Given the description of an element on the screen output the (x, y) to click on. 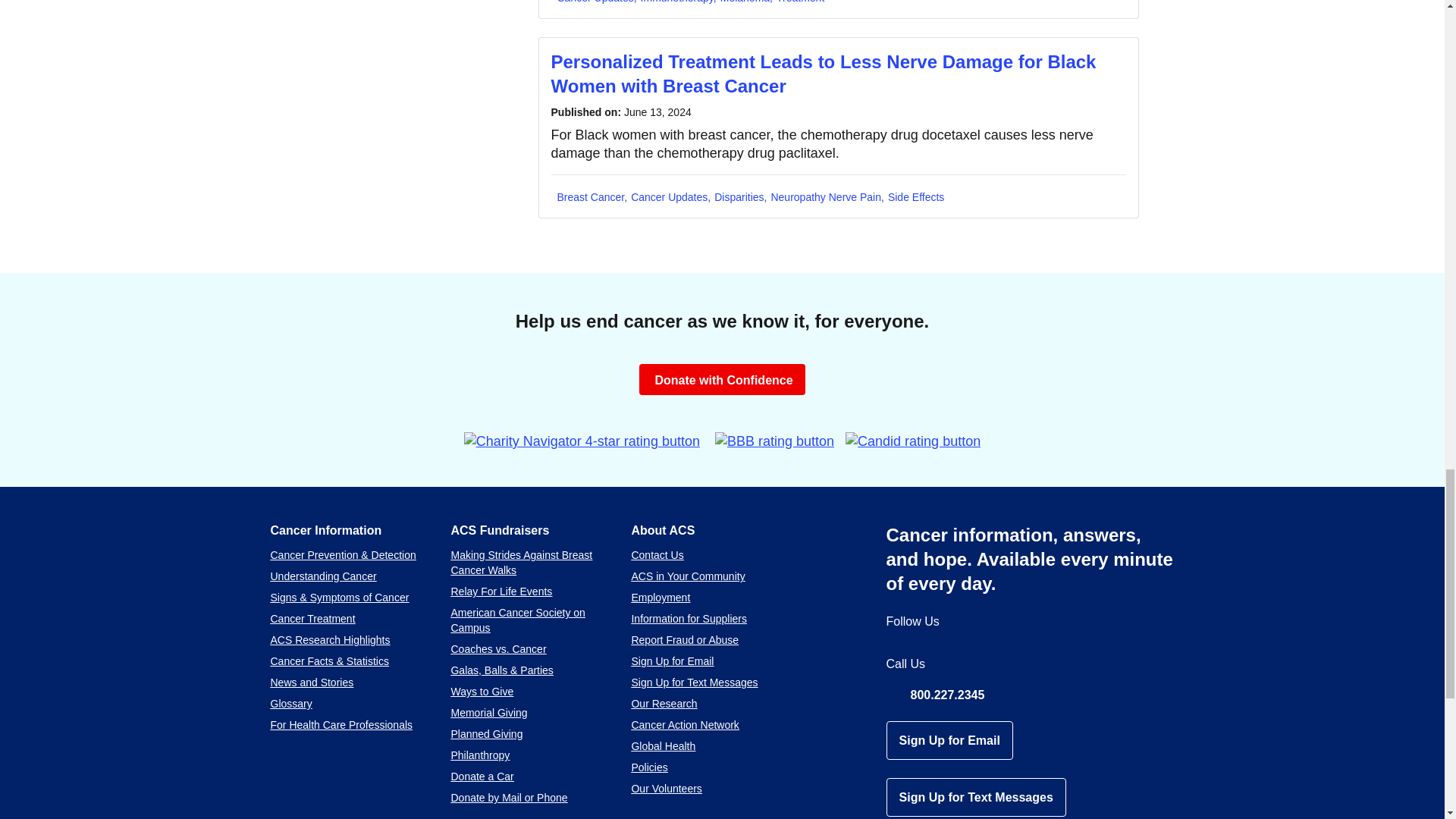
Making Strides Against Breast Cancer Walks (520, 562)
Understanding Cancer (322, 576)
Memorial Giving (488, 712)
Cancer Treatment (312, 618)
American Cancer Society on Campus (517, 619)
Ways to Give (481, 691)
Glossary (290, 703)
Coaches vs. Cancer (497, 648)
For Health Care Professionals (340, 725)
Relay For Life Events (500, 591)
